Given the description of an element on the screen output the (x, y) to click on. 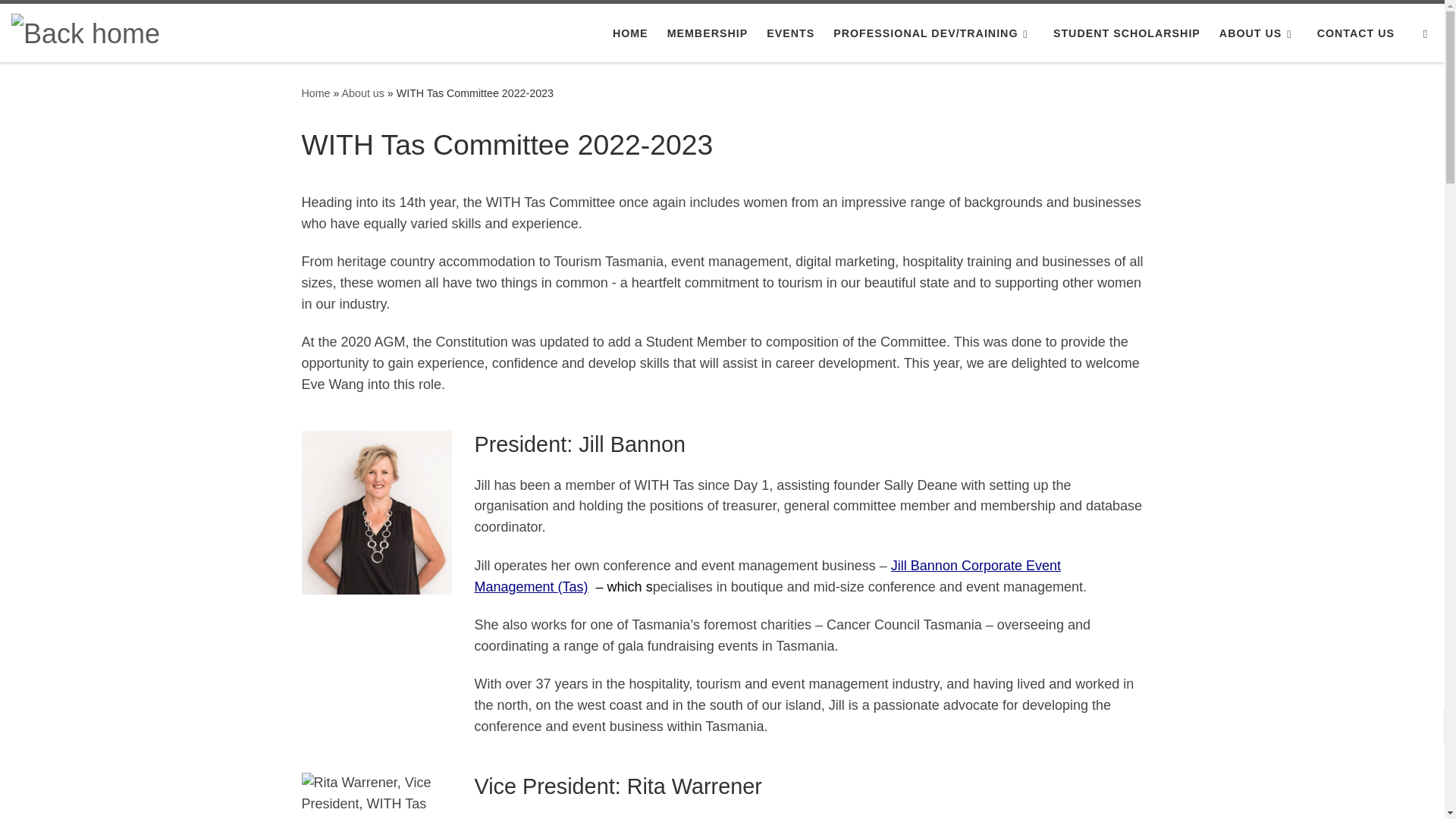
STUDENT SCHOLARSHIP (1126, 33)
EVENTS (790, 33)
Home (315, 92)
HOME (630, 33)
About us (363, 92)
MEMBERSHIP (707, 33)
Jill Bannon - WITH Tas Committee Member (376, 512)
CONTACT US (1355, 33)
About us (363, 92)
ABOUT US (1258, 33)
Rita Warrener, Vice President, WITH Tas  (376, 796)
Skip to content (60, 20)
